Given the description of an element on the screen output the (x, y) to click on. 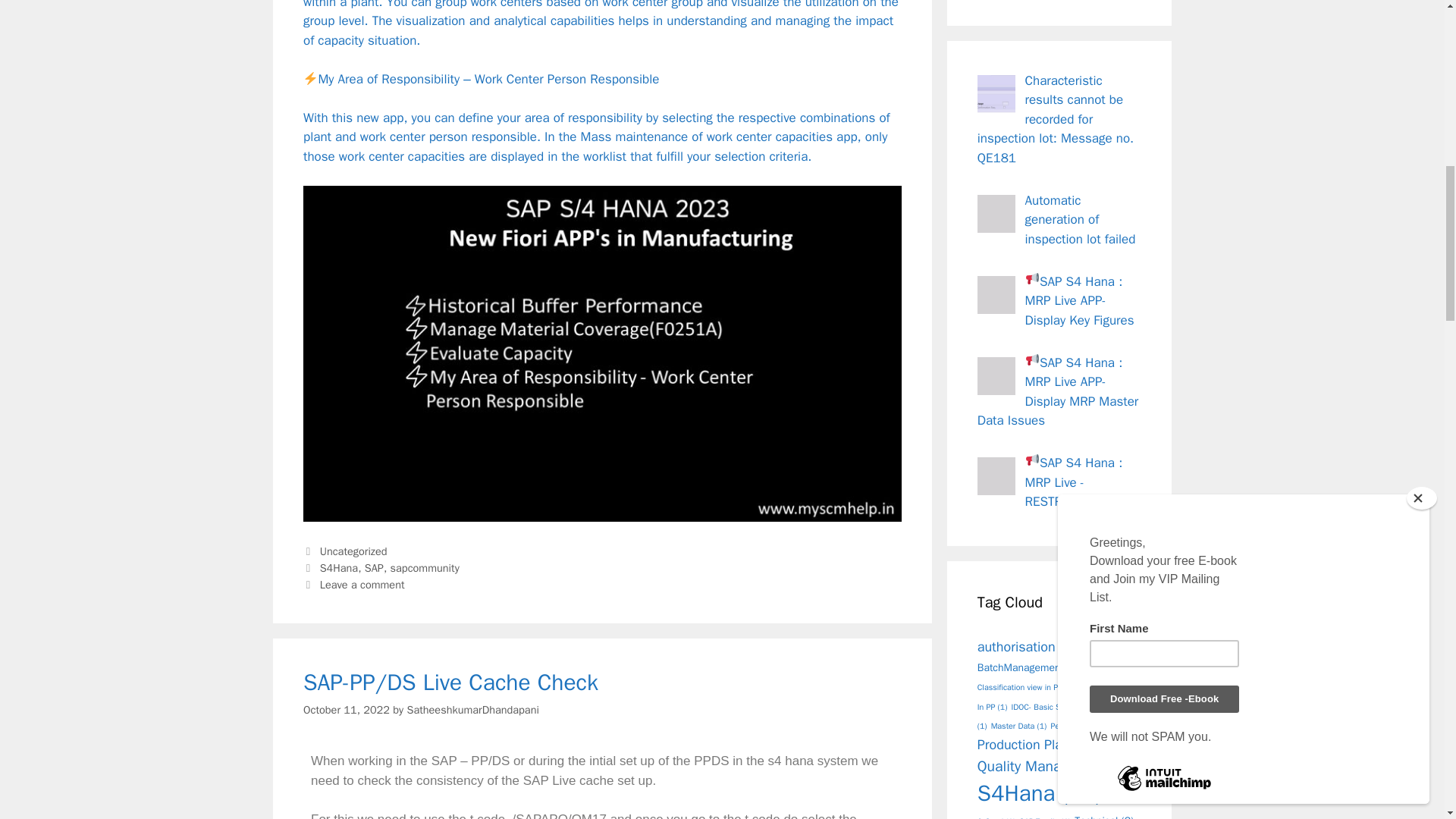
October 11, 2022 (346, 709)
SatheeshkumarDhandapani (472, 709)
Uncategorized (353, 550)
View all posts by SatheeshkumarDhandapani (472, 709)
sapcommunity (425, 567)
5:25 pm (346, 709)
SAP (374, 567)
Leave a comment (362, 584)
S4Hana (339, 567)
